Given the description of an element on the screen output the (x, y) to click on. 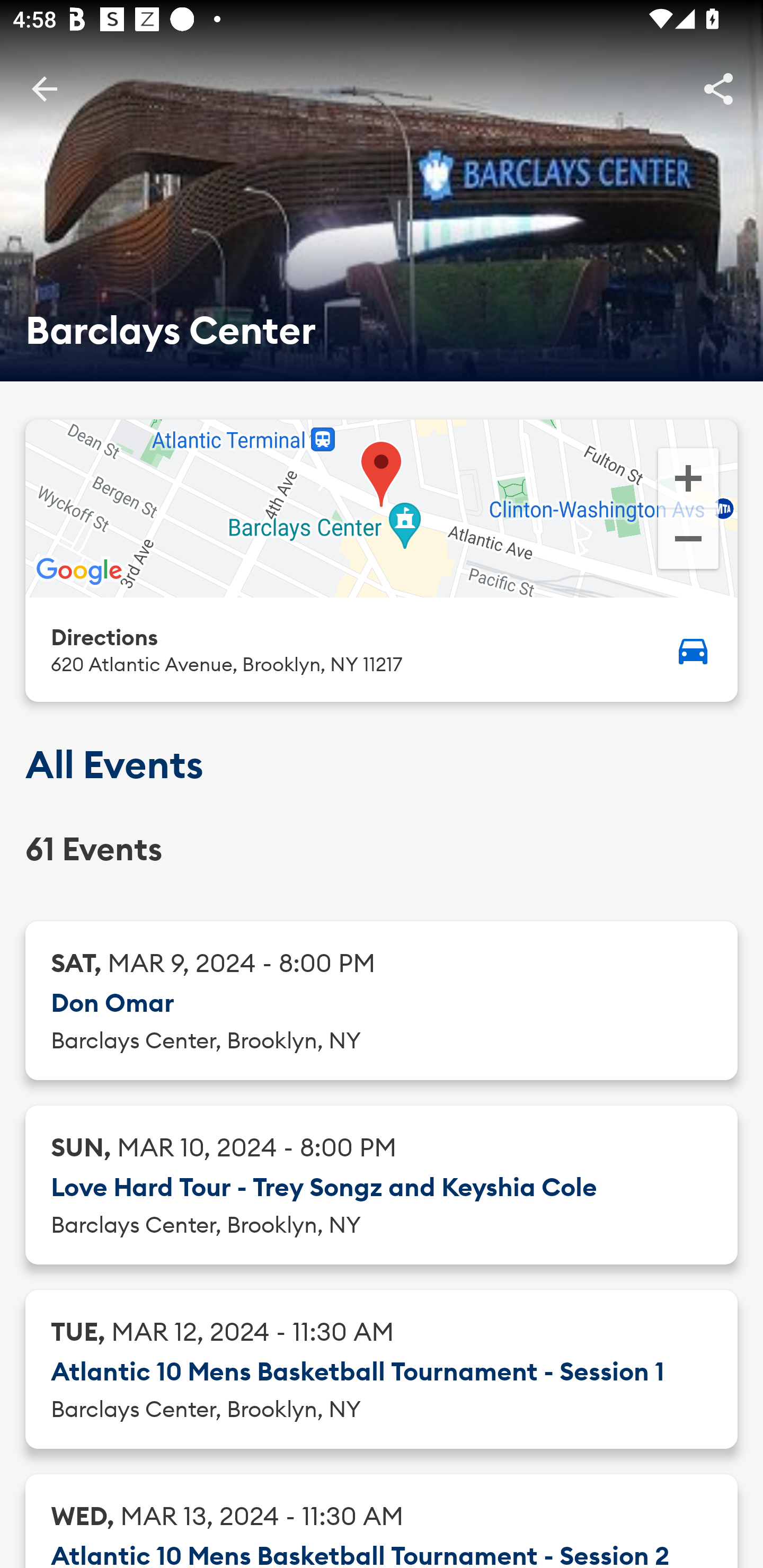
BackButton (44, 88)
Share (718, 88)
Google Map Barclays Center.  Zoom in Zoom out (381, 508)
Zoom in (687, 476)
Zoom out (687, 540)
Directions 620 Atlantic Avenue, Brooklyn, NY 11217 (381, 649)
